Given the description of an element on the screen output the (x, y) to click on. 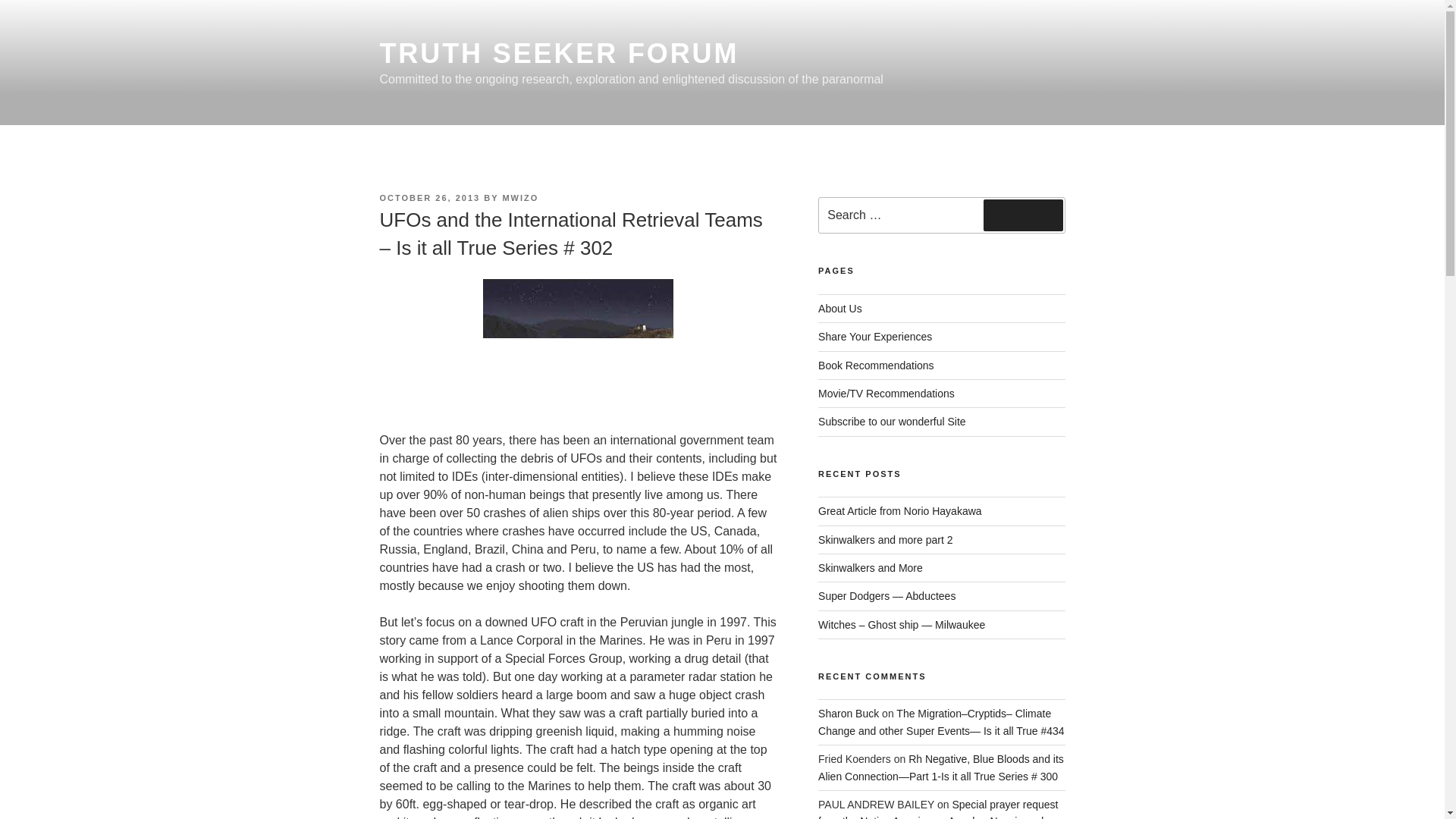
Skinwalkers and more part 2 (885, 539)
Search (1023, 214)
Sharon Buck (848, 713)
MWIZO (520, 197)
OCTOBER 26, 2013 (429, 197)
Great Article from Norio Hayakawa (899, 510)
Subscribe to our wonderful Site (892, 421)
Book Recommendations (876, 365)
TRUTH SEEKER FORUM (558, 52)
About Us (839, 308)
Skinwalkers and More (870, 567)
Share Your Experiences (874, 336)
